Given the description of an element on the screen output the (x, y) to click on. 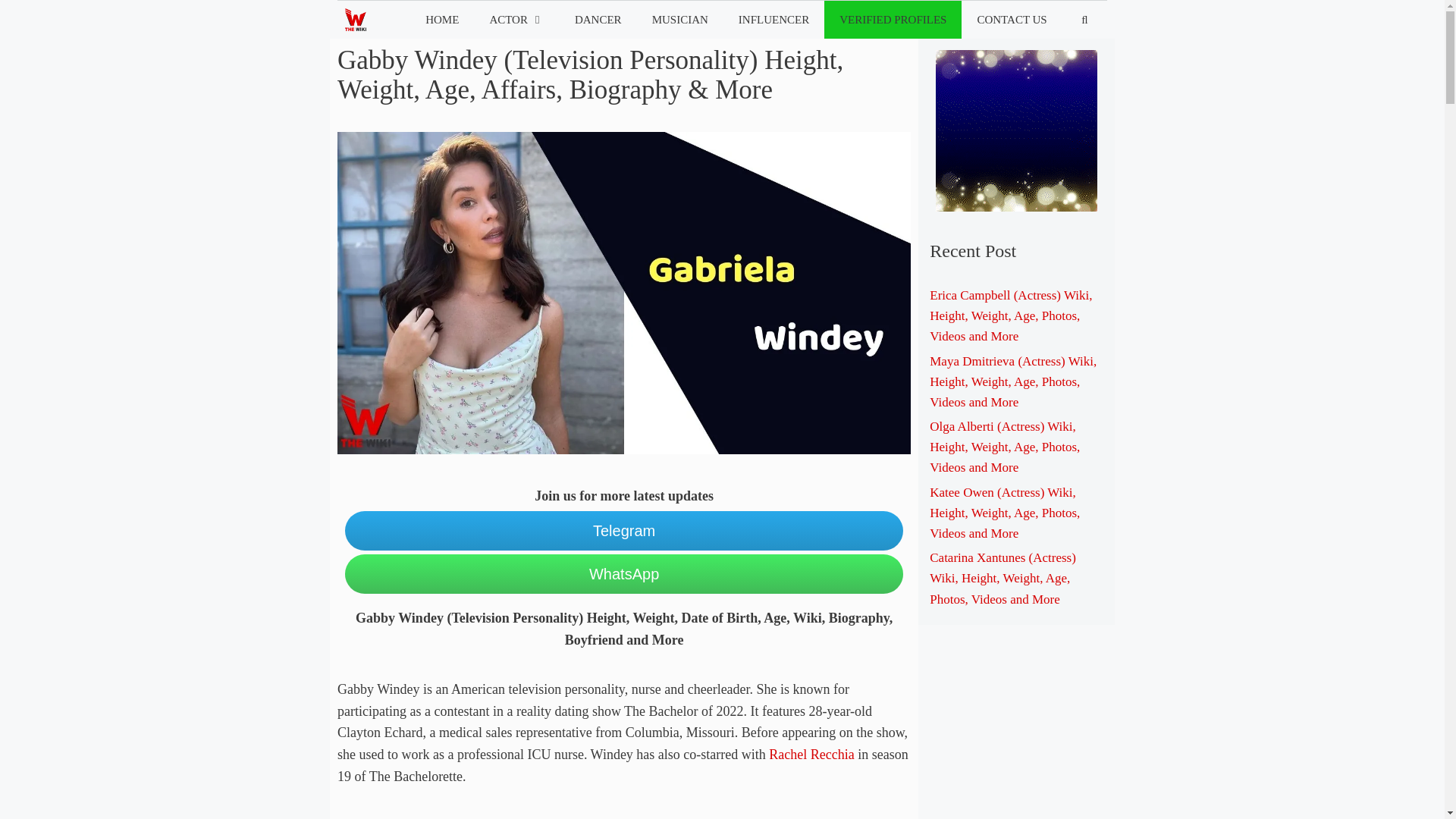
HOME (442, 19)
INFLUENCER (773, 19)
DANCER (598, 19)
ACTOR (516, 19)
CONTACT US (1010, 19)
VERIFIED PROFILES (892, 19)
Rachel Recchia (810, 754)
MUSICIAN (680, 19)
